Given the description of an element on the screen output the (x, y) to click on. 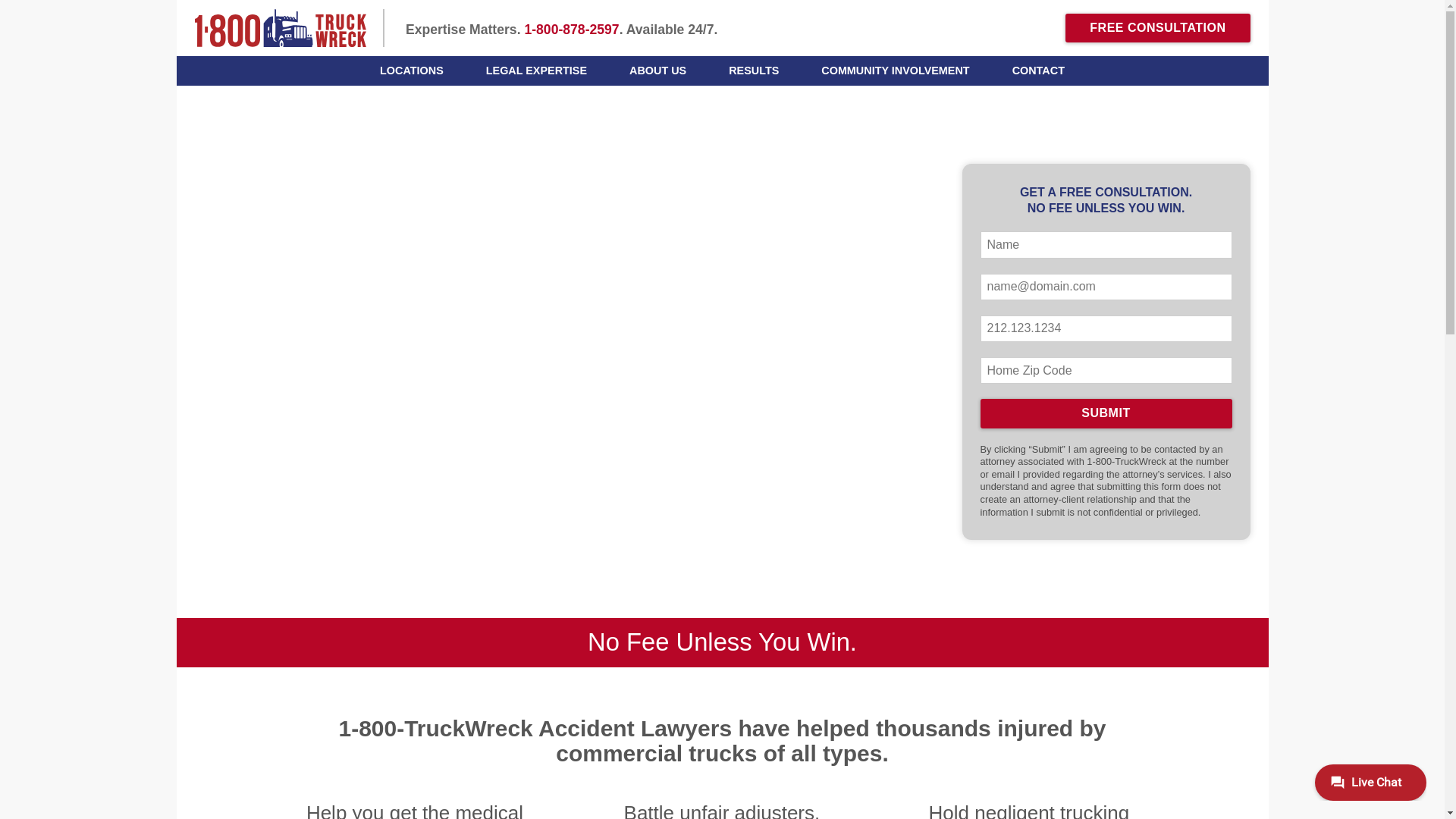
SUBMIT Element type: text (1105, 412)
CONTACT Element type: text (1038, 70)
LEGAL EXPERTISE Element type: text (536, 70)
ABOUT US Element type: text (657, 70)
LOCATIONS Element type: text (411, 70)
1-800-878-2597 Element type: text (571, 29)
COMMUNITY INVOLVEMENT Element type: text (895, 70)
RESULTS Element type: text (753, 70)
FREE CONSULTATION Element type: text (1157, 27)
